Given the description of an element on the screen output the (x, y) to click on. 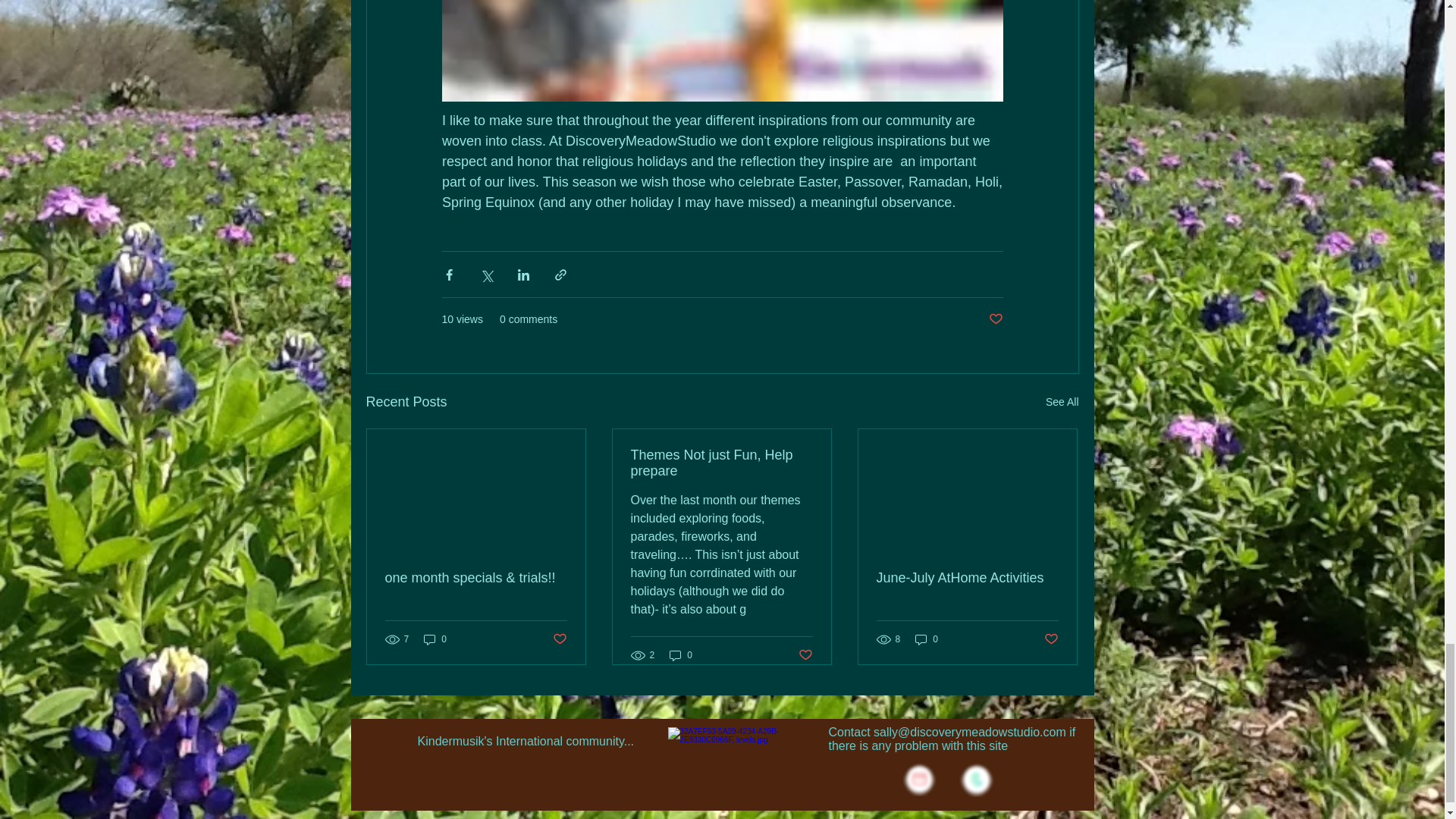
0 (681, 655)
June-July AtHome Activities (967, 578)
Post not marked as liked (558, 639)
Post not marked as liked (804, 655)
See All (1061, 402)
0 (926, 639)
Post not marked as liked (1050, 639)
0 (435, 639)
Post not marked as liked (995, 319)
Themes Not just Fun, Help prepare (721, 463)
